Given the description of an element on the screen output the (x, y) to click on. 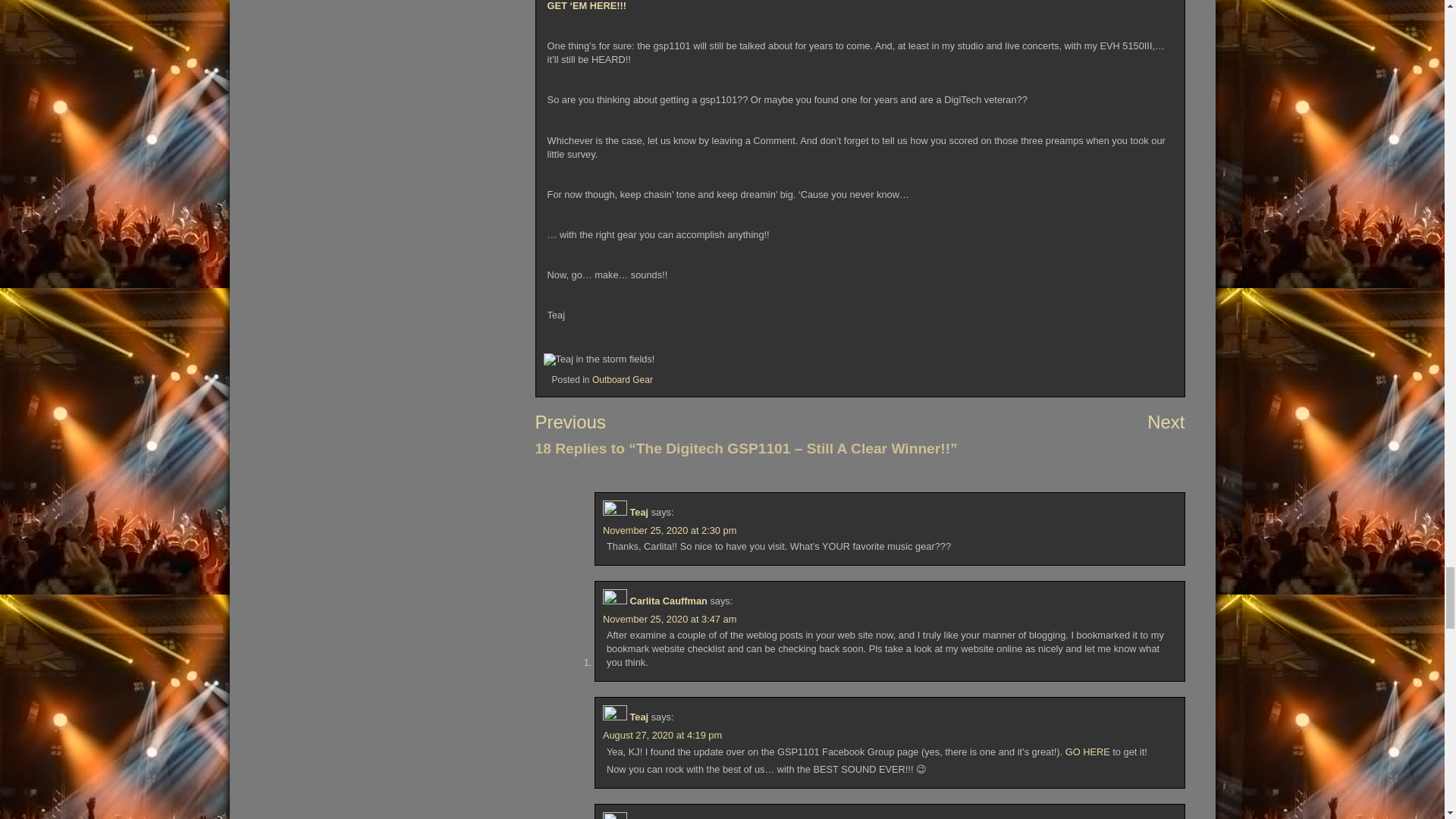
Teaj (637, 511)
November 25, 2020 at 3:47 am (669, 618)
Teaj (637, 716)
Carlita Cauffman (667, 600)
November 25, 2020 at 2:30 pm (669, 530)
GO HERE (1087, 751)
August 27, 2020 at 4:19 pm (662, 735)
Outboard Gear (622, 379)
